Given the description of an element on the screen output the (x, y) to click on. 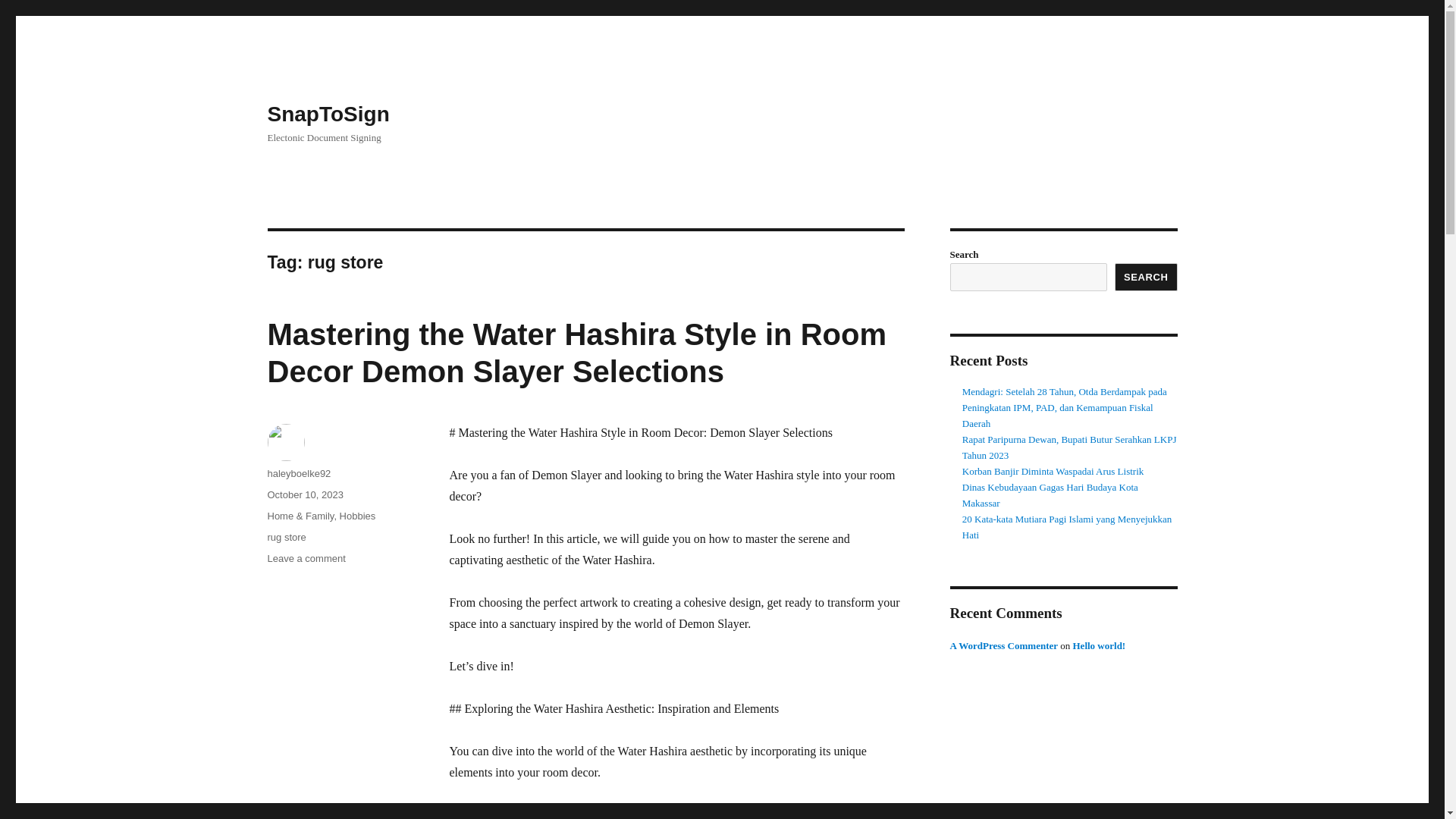
Korban Banjir Diminta Waspadai Arus Listrik (1053, 471)
Leave a comment (305, 558)
Dinas Kebudayaan Gagas Hari Budaya Kota Makassar (1050, 494)
20 Kata-kata Mutiara Pagi Islami yang Menyejukkan Hati (1067, 526)
haleyboelke92 (298, 473)
Rapat Paripurna Dewan, Bupati Butur Serahkan LKPJ Tahun 2023 (1069, 447)
rug store (285, 536)
October 10, 2023 (304, 494)
